Given the description of an element on the screen output the (x, y) to click on. 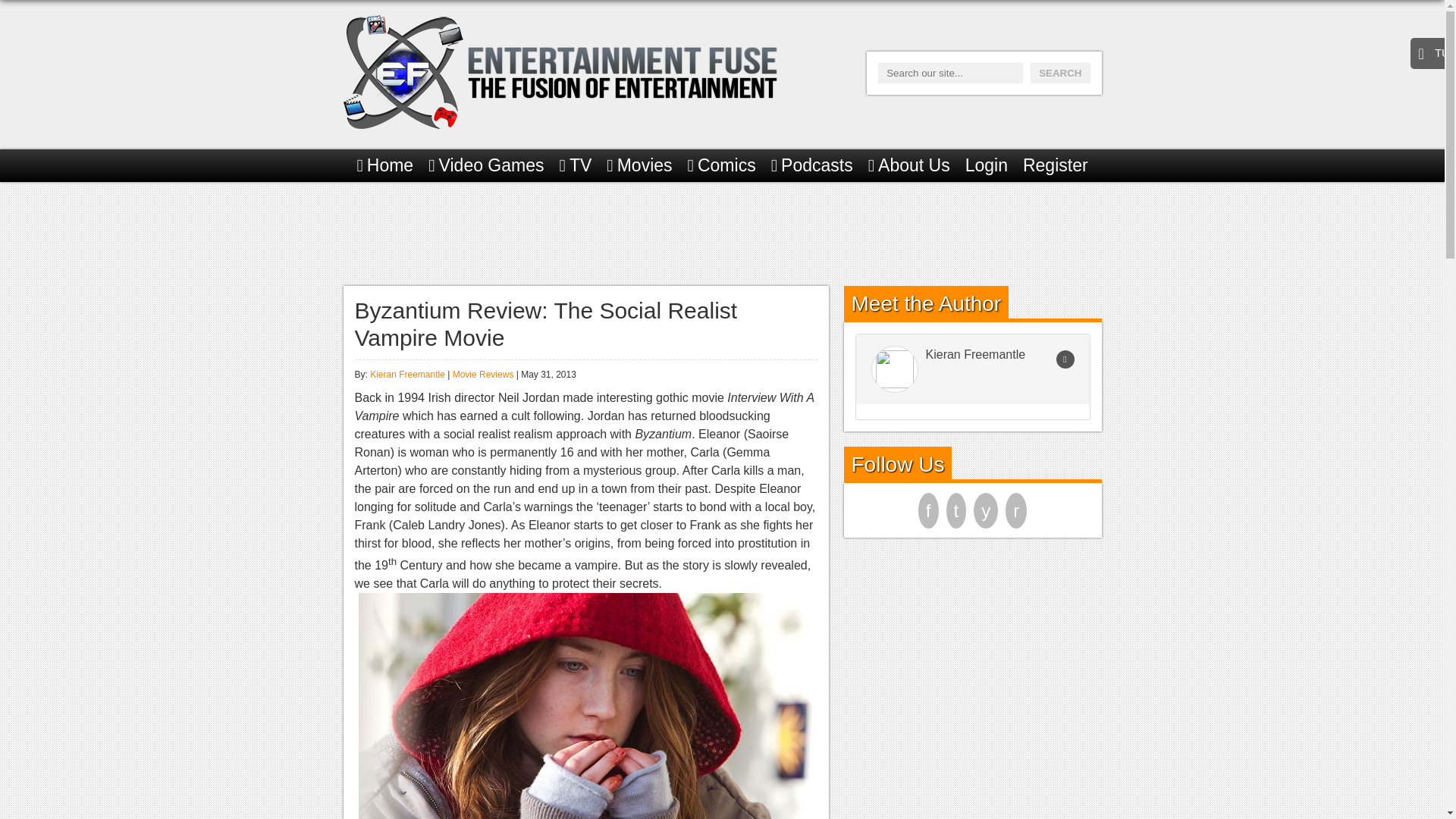
Movies (639, 165)
Posts by Kieran Freemantle (407, 374)
Search (1059, 73)
Search (1059, 73)
Home (384, 165)
TV (575, 165)
Video Games (485, 165)
Comics (721, 165)
Connect via Twitter (1064, 359)
